Given the description of an element on the screen output the (x, y) to click on. 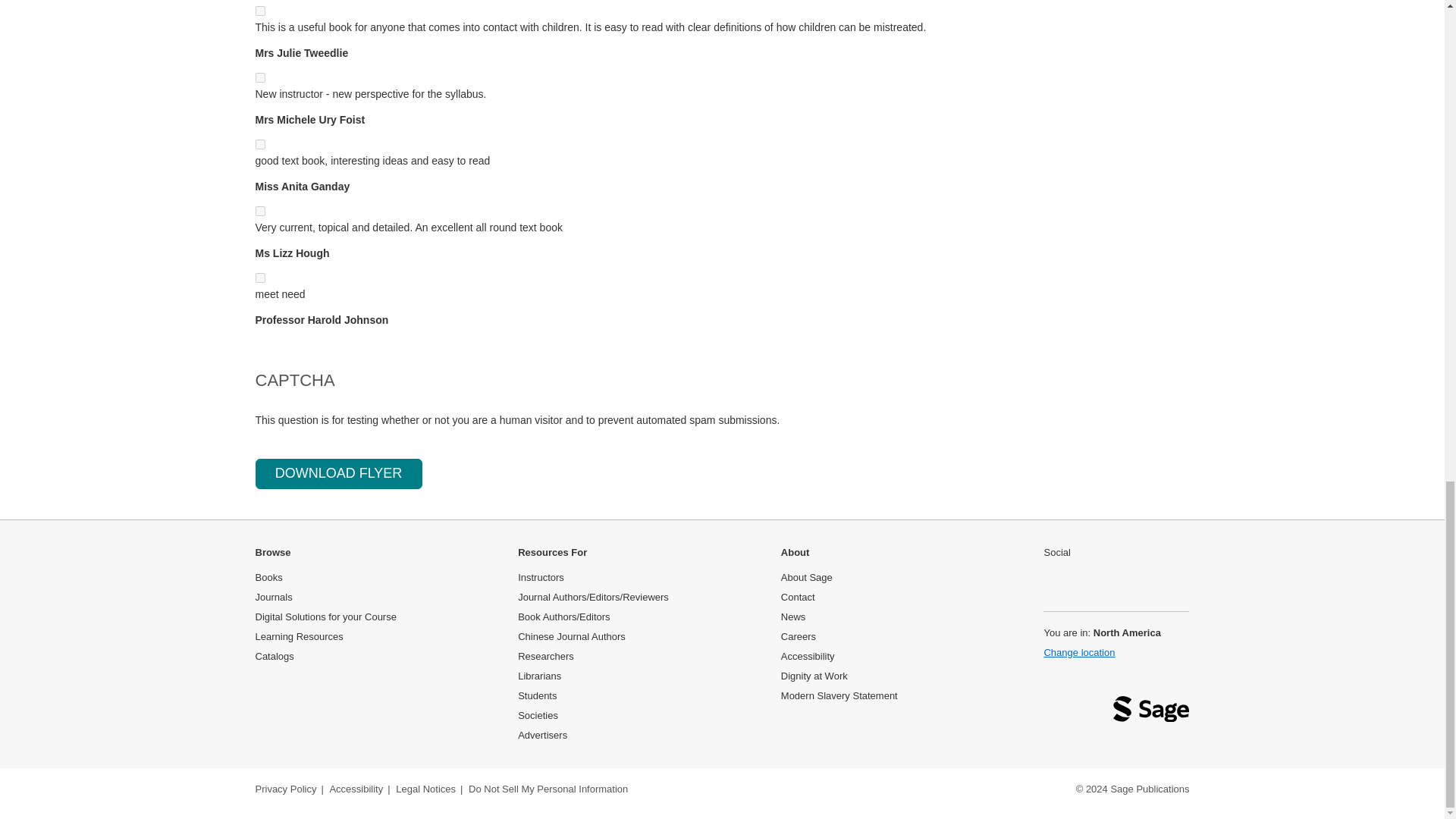
127571 (259, 277)
Sage logo: link back to homepage (1151, 712)
129582 (259, 211)
129447 (259, 10)
129932 (259, 144)
Catalogs (274, 655)
127927 (259, 77)
